Given the description of an element on the screen output the (x, y) to click on. 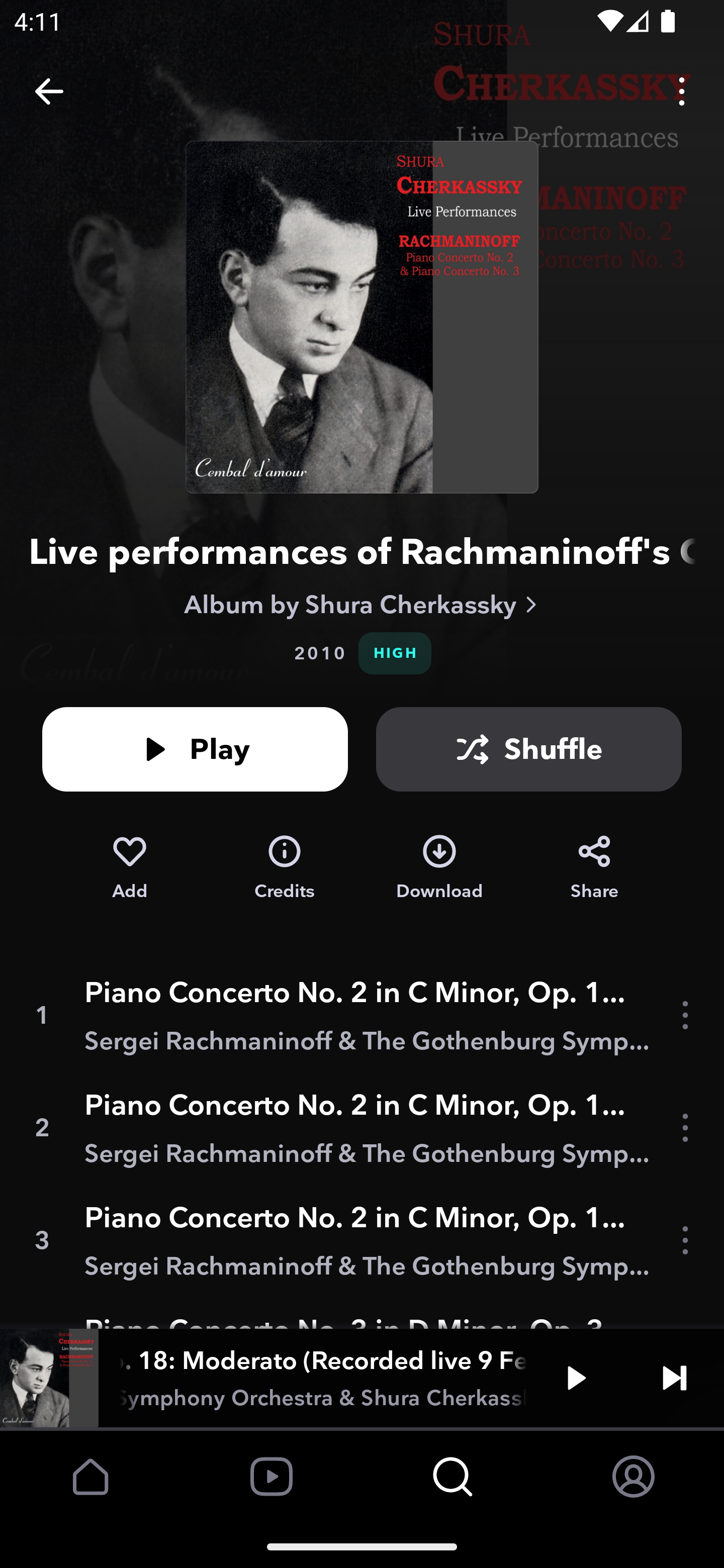
Options (681, 90)
Album by Shura Cherkassky (362, 604)
Play (194, 749)
Shuffle (528, 749)
Add to My Collection Add (129, 867)
Credits (284, 867)
Download (439, 867)
Share (593, 867)
Play (576, 1377)
